Given the description of an element on the screen output the (x, y) to click on. 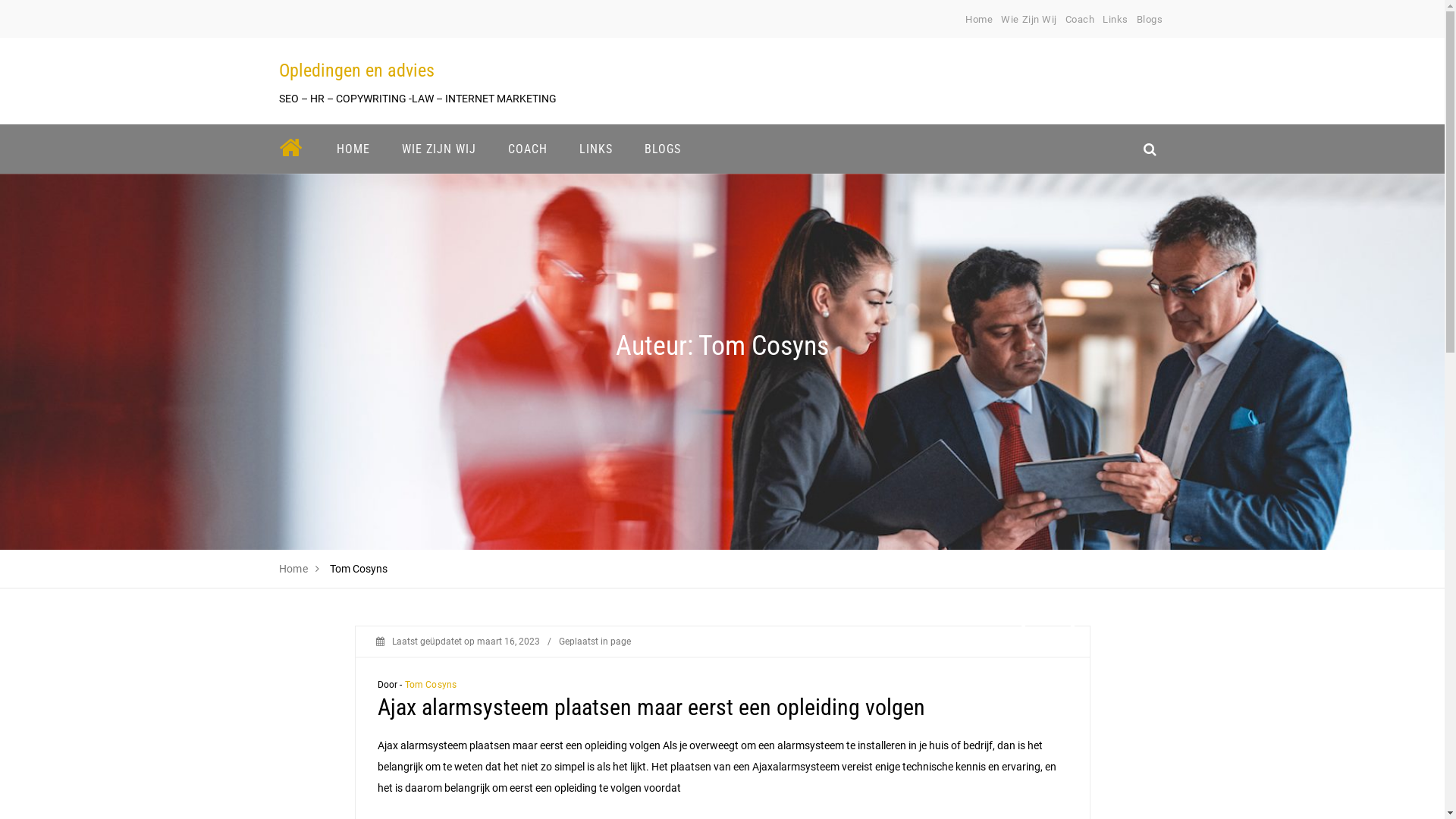
COACH Element type: text (526, 148)
HOME Element type: text (352, 148)
Links Element type: text (1115, 19)
Home Element type: text (978, 19)
Opledingen en advies Element type: text (356, 70)
Ajax alarmsysteem plaatsen maar eerst een opleiding volgen Element type: text (651, 706)
page Element type: text (619, 641)
search_icon Element type: hover (1148, 148)
BLOGS Element type: text (661, 148)
Blogs Element type: text (1149, 19)
Wie Zijn Wij Element type: text (1028, 19)
LINKS Element type: text (594, 148)
Coach Element type: text (1080, 19)
Tom Cosyns Element type: text (430, 684)
WIE ZIJN WIJ Element type: text (438, 148)
Home Element type: text (293, 568)
